Given the description of an element on the screen output the (x, y) to click on. 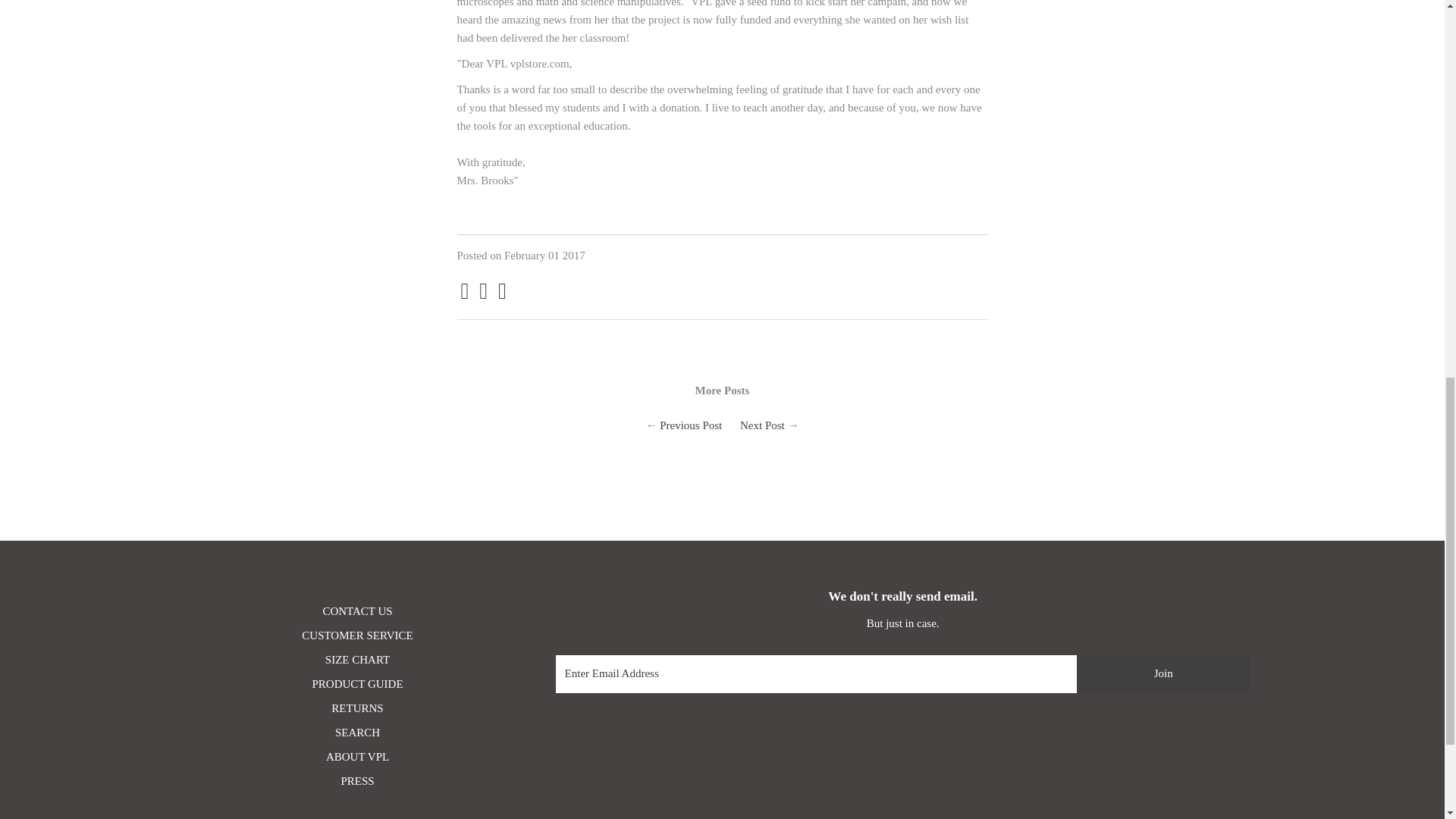
Join (1163, 673)
